Given the description of an element on the screen output the (x, y) to click on. 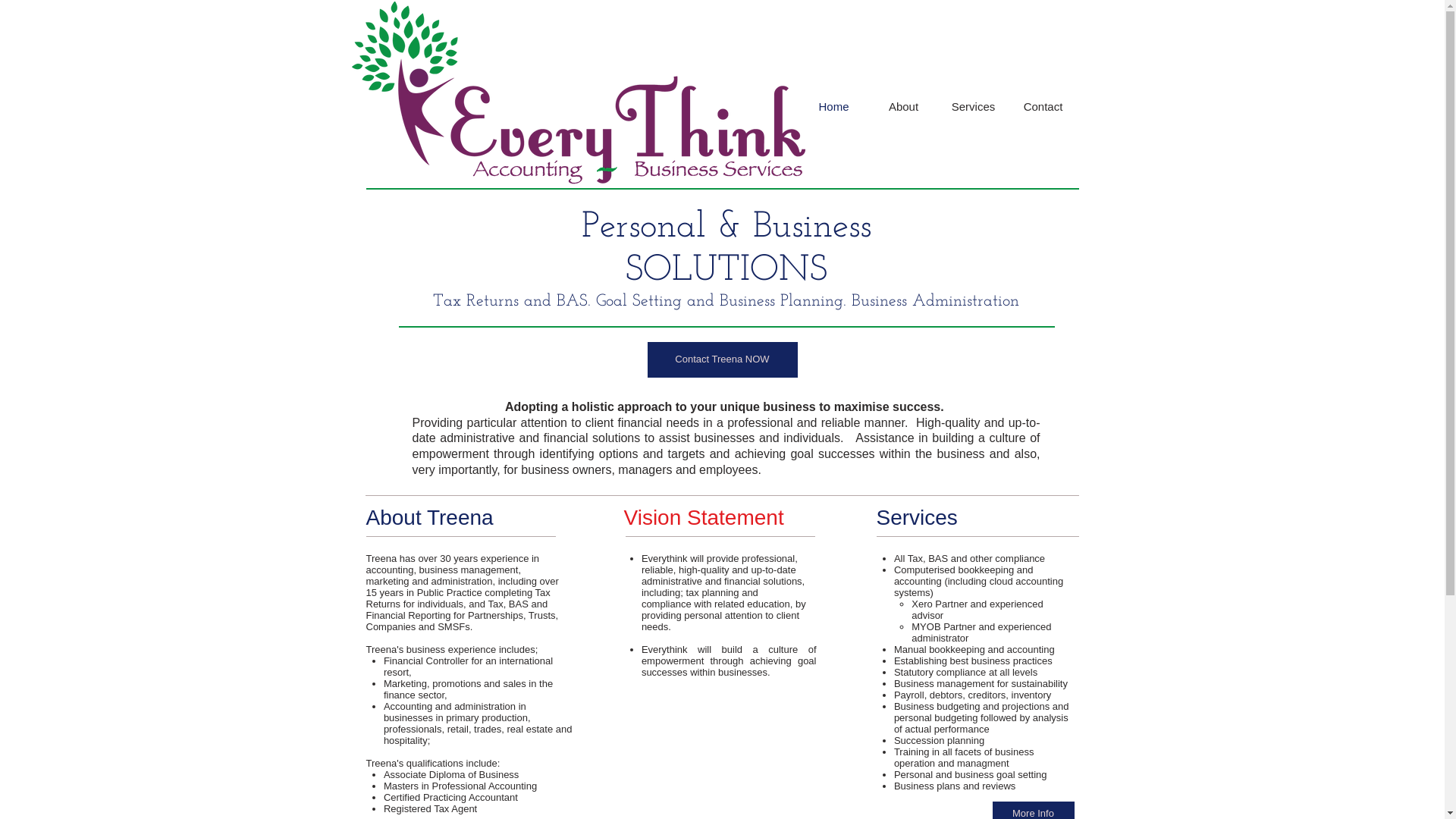
Home Element type: text (834, 106)
Services Element type: text (973, 106)
EveryThink1.png Element type: hover (577, 92)
About Element type: text (903, 106)
Contact Treena NOW Element type: text (722, 359)
Contact Element type: text (1043, 106)
